Given the description of an element on the screen output the (x, y) to click on. 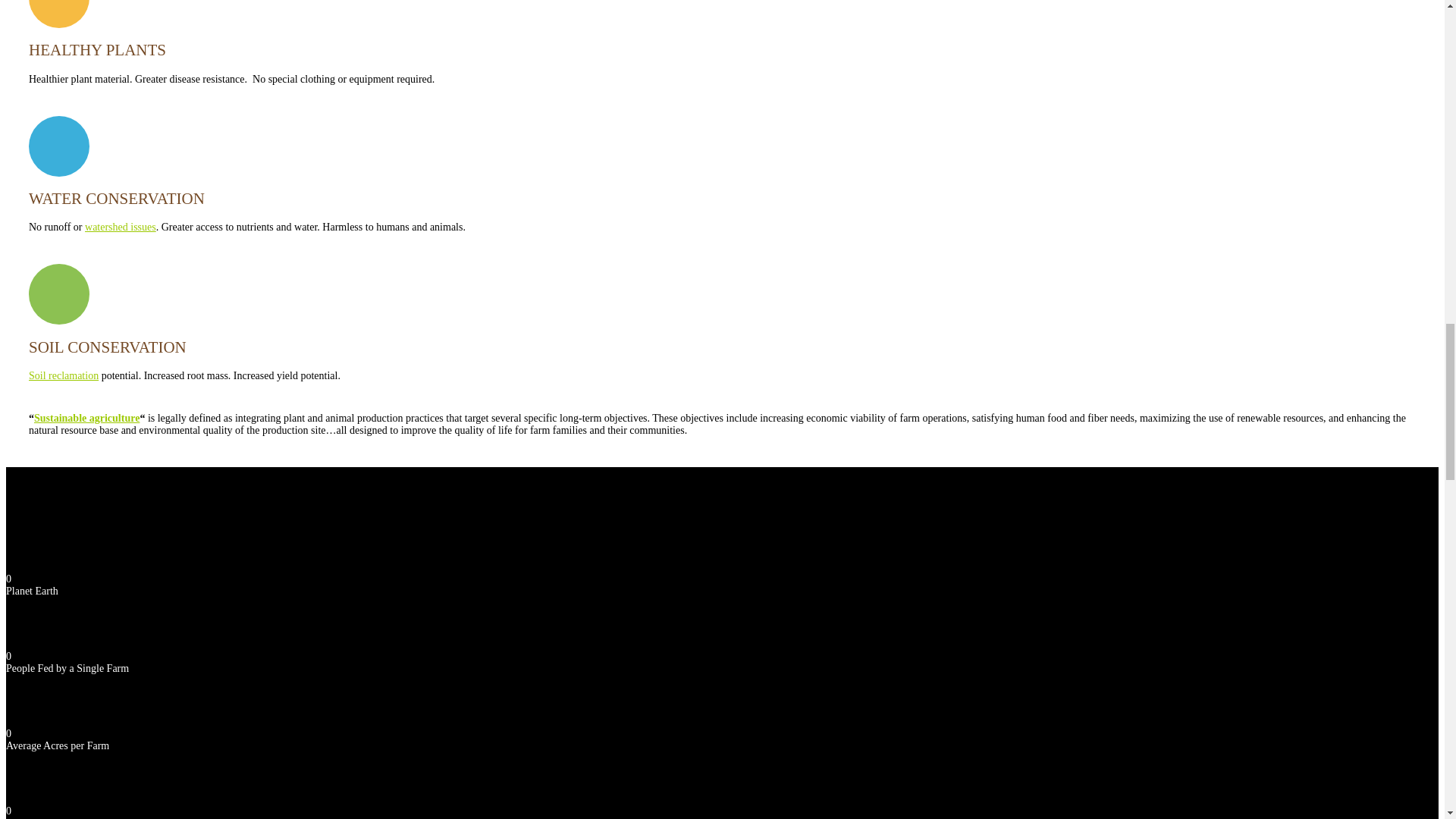
Soil reclamation (64, 375)
watershed issues (119, 226)
Sustainable agriculture (86, 418)
